Given the description of an element on the screen output the (x, y) to click on. 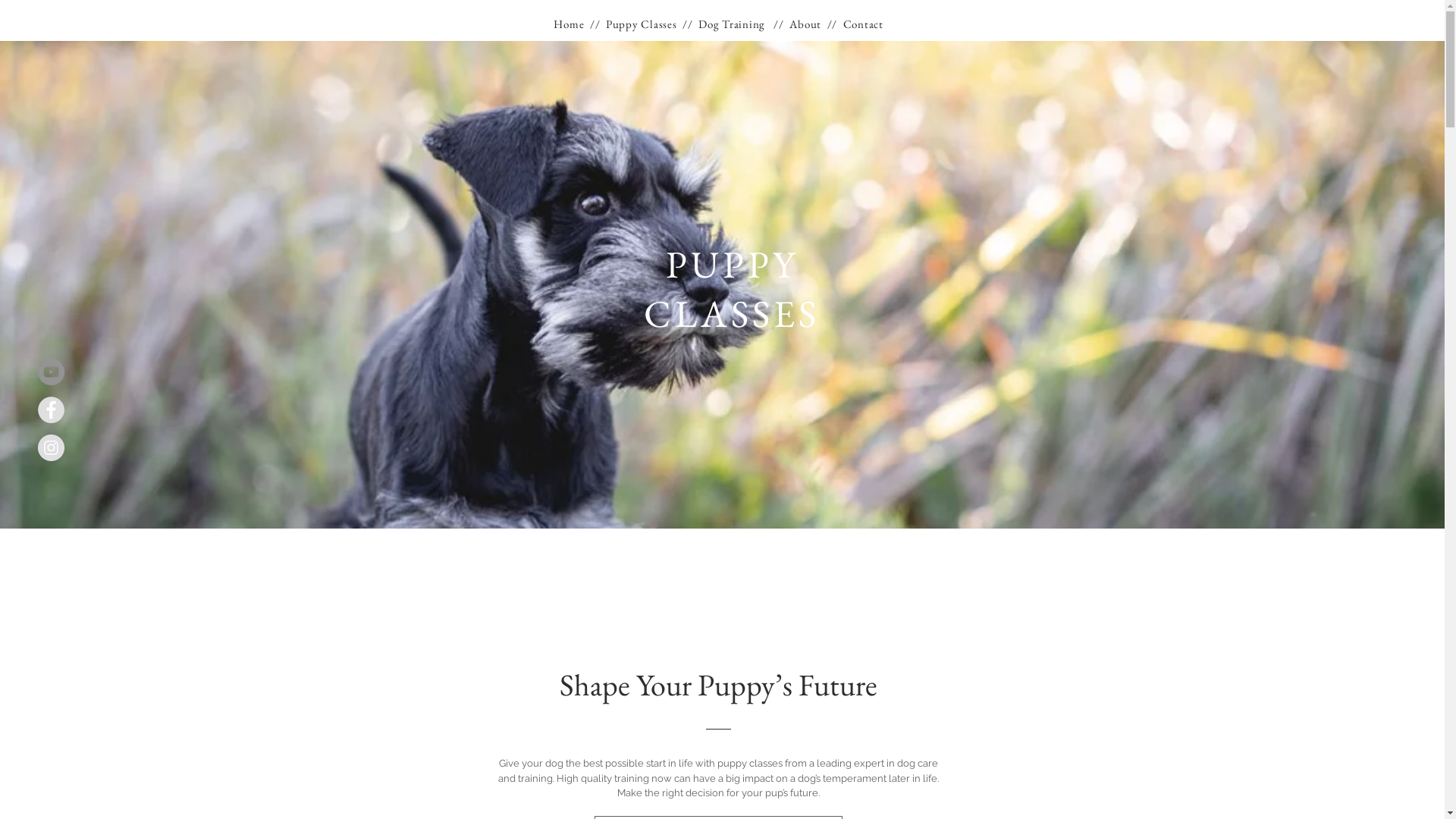
Home Element type: text (568, 23)
About Element type: text (806, 23)
Puppy Classes Element type: text (641, 23)
Dog Training  Element type: text (733, 23)
PUPPY Element type: text (731, 263)
Contact  Element type: text (864, 23)
